Given the description of an element on the screen output the (x, y) to click on. 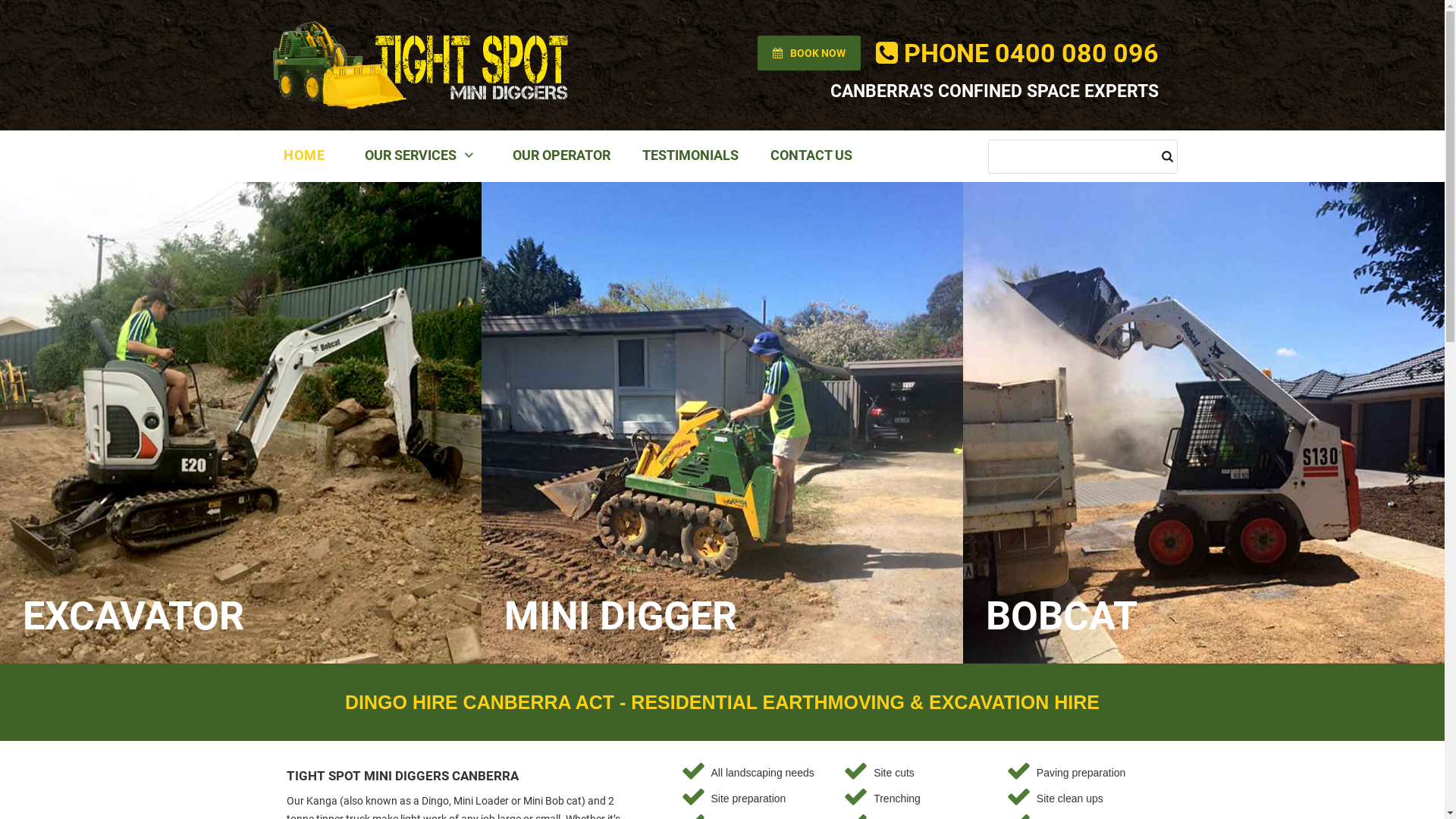
OUR SERVICES Element type: text (418, 155)
OUR OPERATOR Element type: text (561, 155)
CONTACT US Element type: text (811, 155)
BOBCAT Element type: text (1061, 616)
BOOK NOW Element type: text (807, 52)
HOME Element type: text (304, 155)
TESTIMONIALS Element type: text (689, 155)
0400 080 096 Element type: text (1076, 52)
EXCAVATOR Element type: text (133, 616)
MINI DIGGER Element type: text (620, 616)
